Given the description of an element on the screen output the (x, y) to click on. 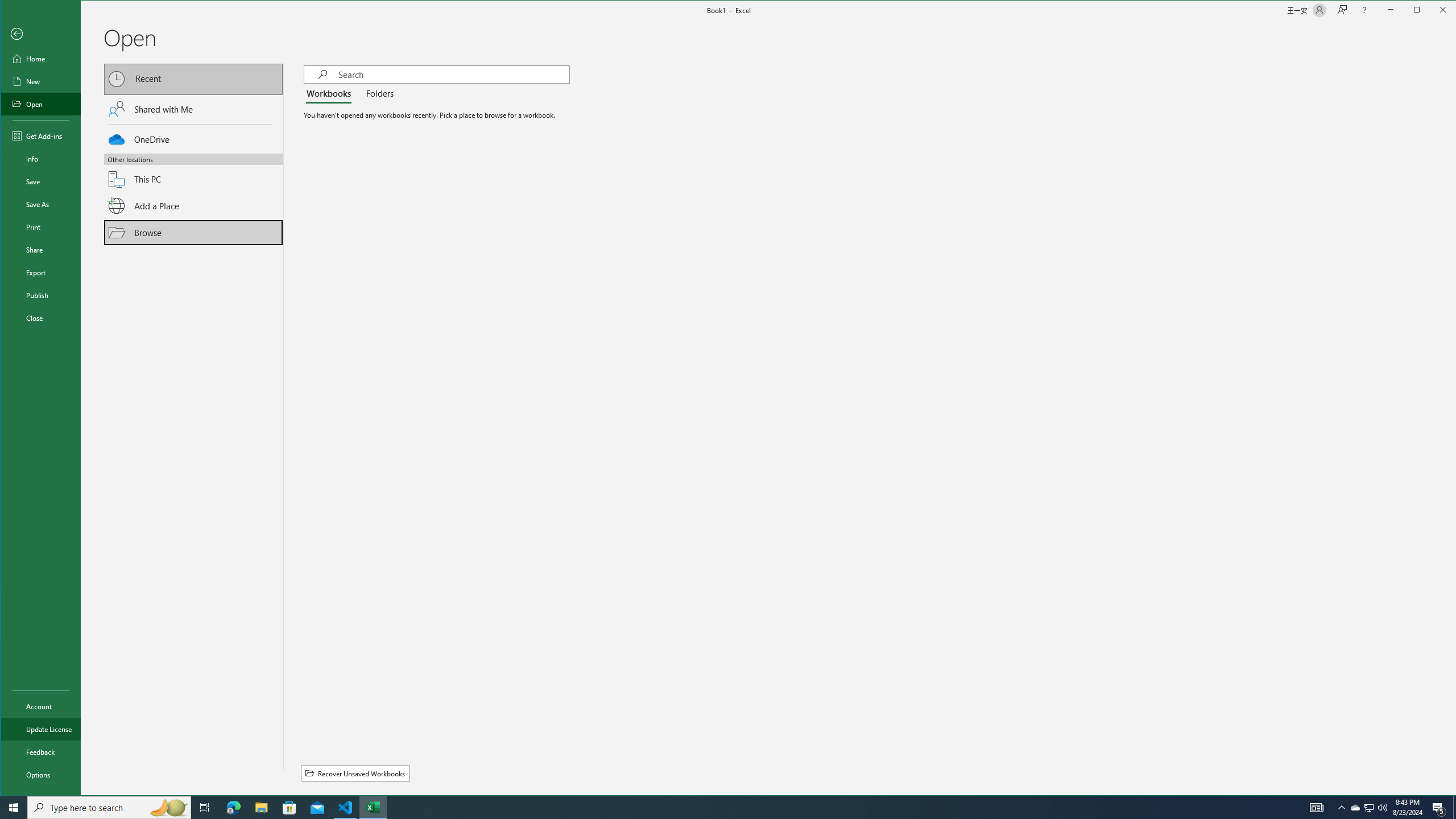
Browse (193, 232)
Workbooks (331, 94)
Export (40, 272)
OneDrive (193, 137)
Recent (193, 79)
AutomationID: 4105 (1316, 807)
Save As (40, 203)
Options (40, 774)
